Given the description of an element on the screen output the (x, y) to click on. 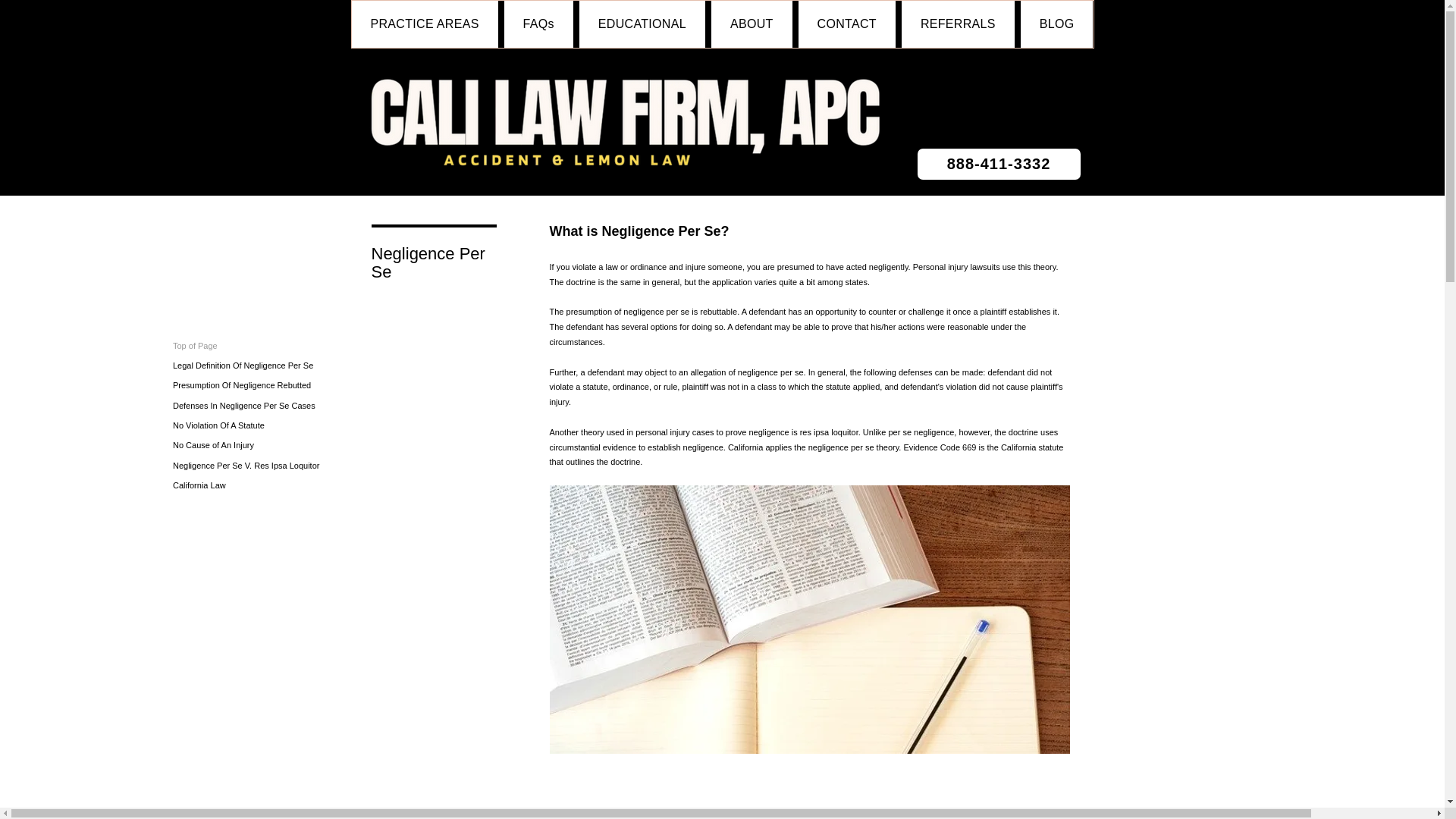
FAQs (538, 23)
EDUCATIONAL (641, 23)
BLOG (1056, 23)
California Law  (253, 485)
Top of Page (253, 345)
ABOUT (751, 23)
Legal Definition Of Negligence Per Se (253, 365)
PRACTICE AREAS (424, 23)
Presumption Of Negligence Rebutted (253, 385)
REFERRALS (957, 23)
